Given the description of an element on the screen output the (x, y) to click on. 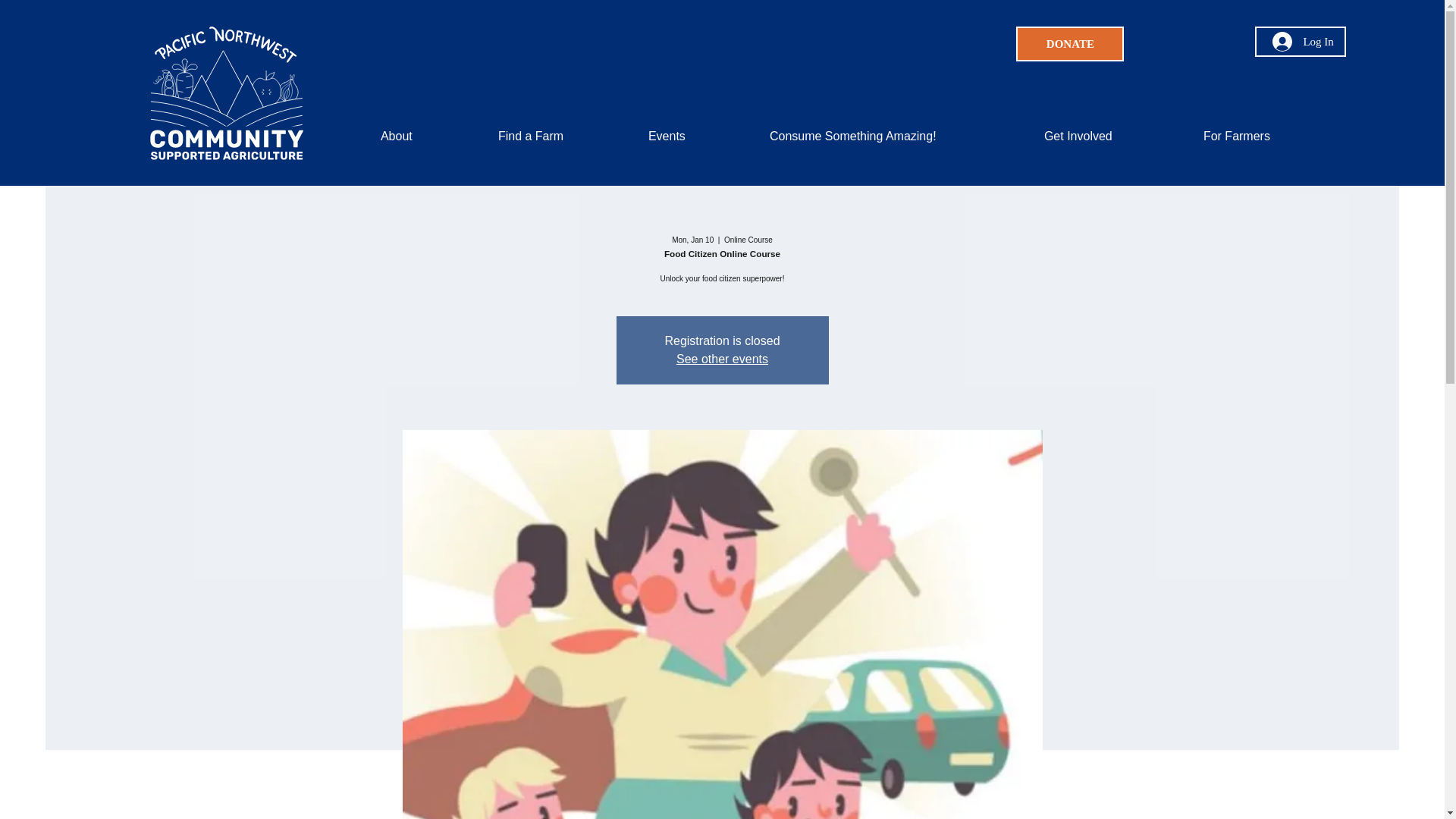
DONATE (1070, 43)
Events (697, 135)
Log In (1302, 41)
About (427, 135)
See other events (722, 358)
Find a Farm (561, 135)
